Given the description of an element on the screen output the (x, y) to click on. 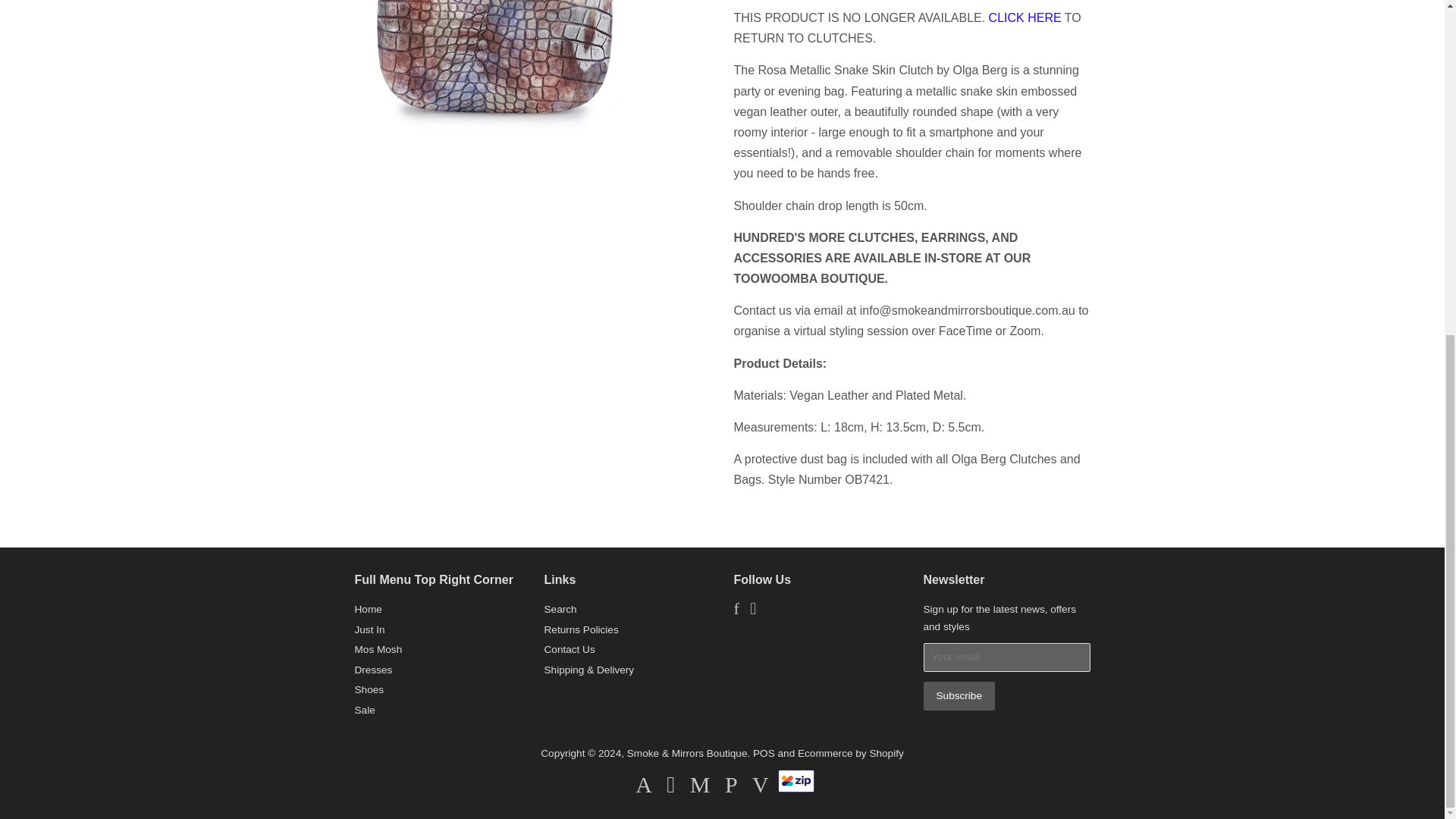
Subscribe (958, 695)
